Given the description of an element on the screen output the (x, y) to click on. 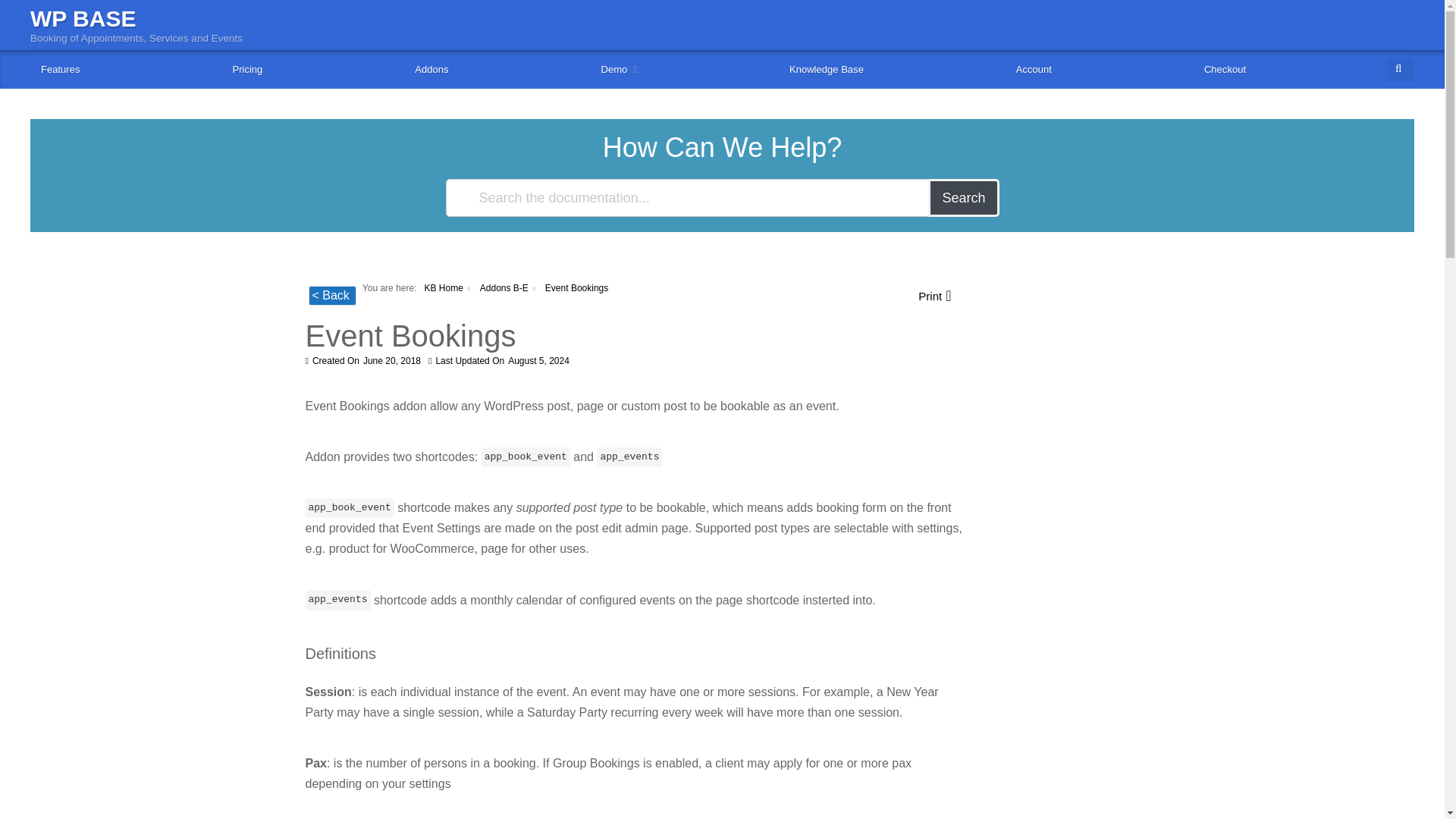
Search (963, 198)
KB Home (443, 287)
Knowledge Base (826, 69)
Demo (618, 69)
WP BASE (82, 18)
Checkout (1224, 69)
WP BASE (82, 18)
Pricing (247, 69)
Search (1419, 63)
Account (1034, 69)
